Given the description of an element on the screen output the (x, y) to click on. 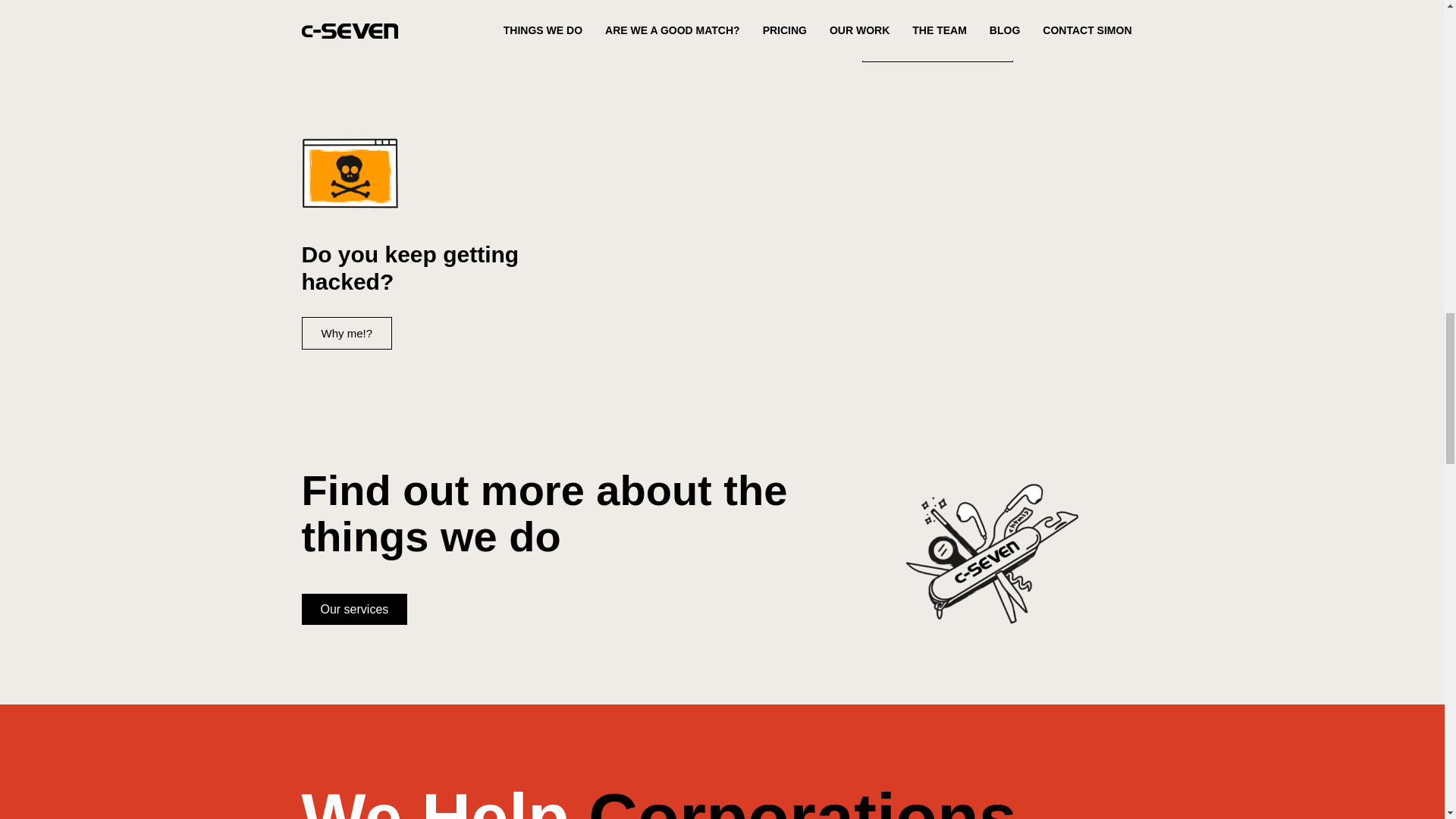
Our services (354, 608)
Why me!? (347, 332)
Bring me up to speed! (937, 45)
Bring me into the 21st century! (398, 18)
